Given the description of an element on the screen output the (x, y) to click on. 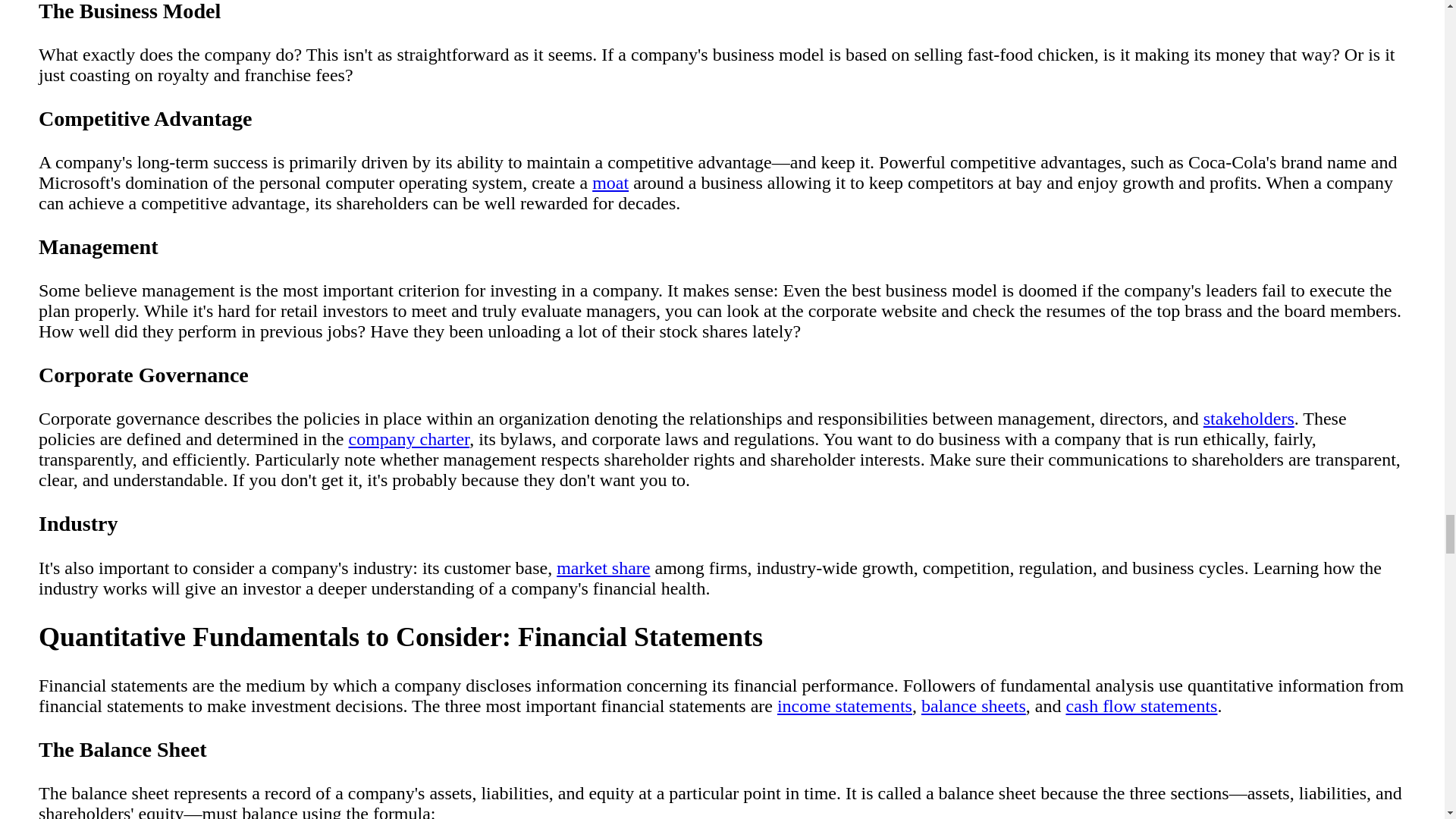
moat (610, 182)
